Given the description of an element on the screen output the (x, y) to click on. 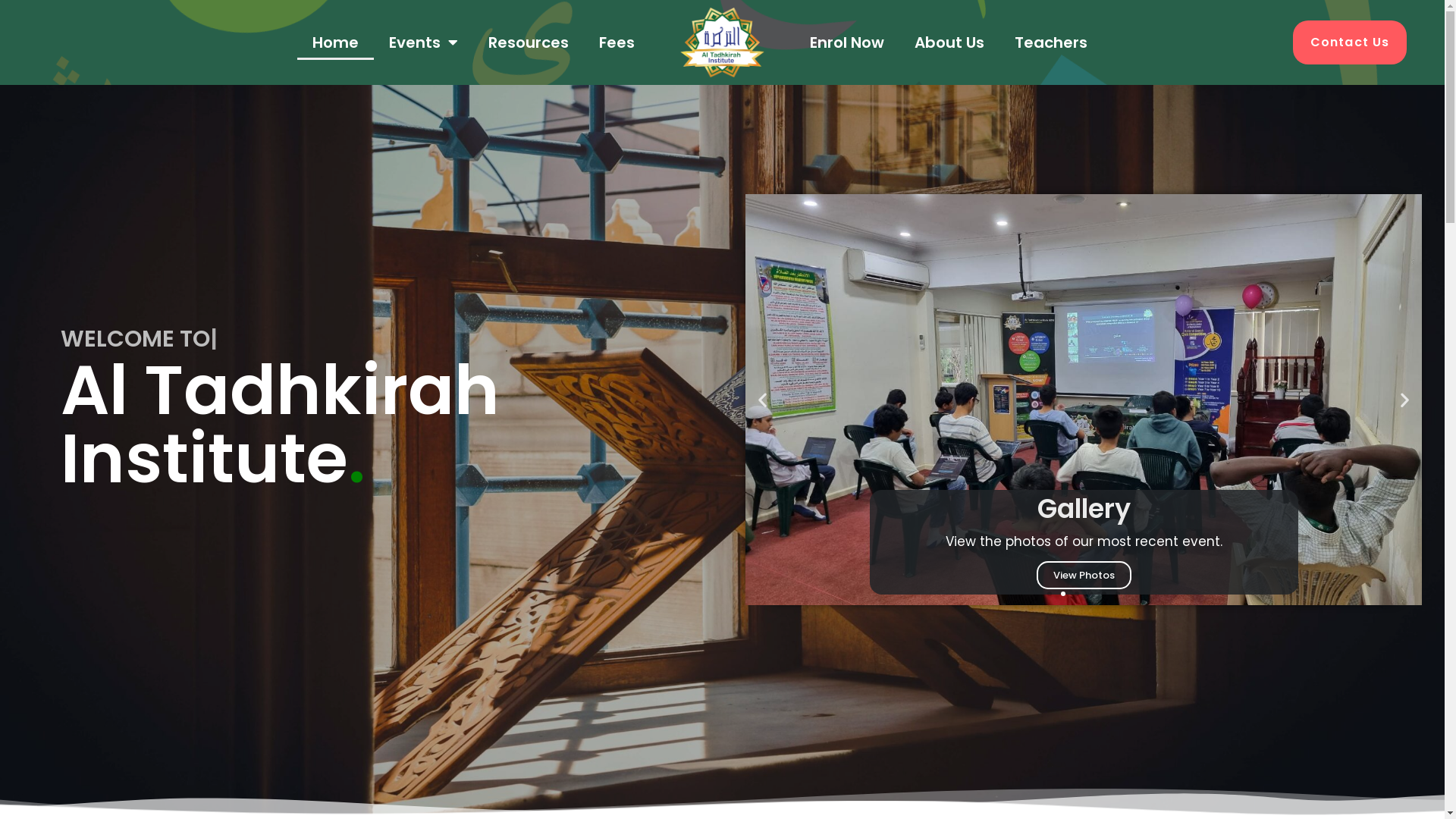
Contact Us Element type: text (1349, 42)
About Us Element type: text (949, 42)
Teachers Element type: text (1050, 42)
Resources Element type: text (528, 42)
Fees Element type: text (616, 42)
Enrol Now Element type: text (846, 42)
Events Element type: text (423, 42)
Home Element type: text (335, 42)
